Given the description of an element on the screen output the (x, y) to click on. 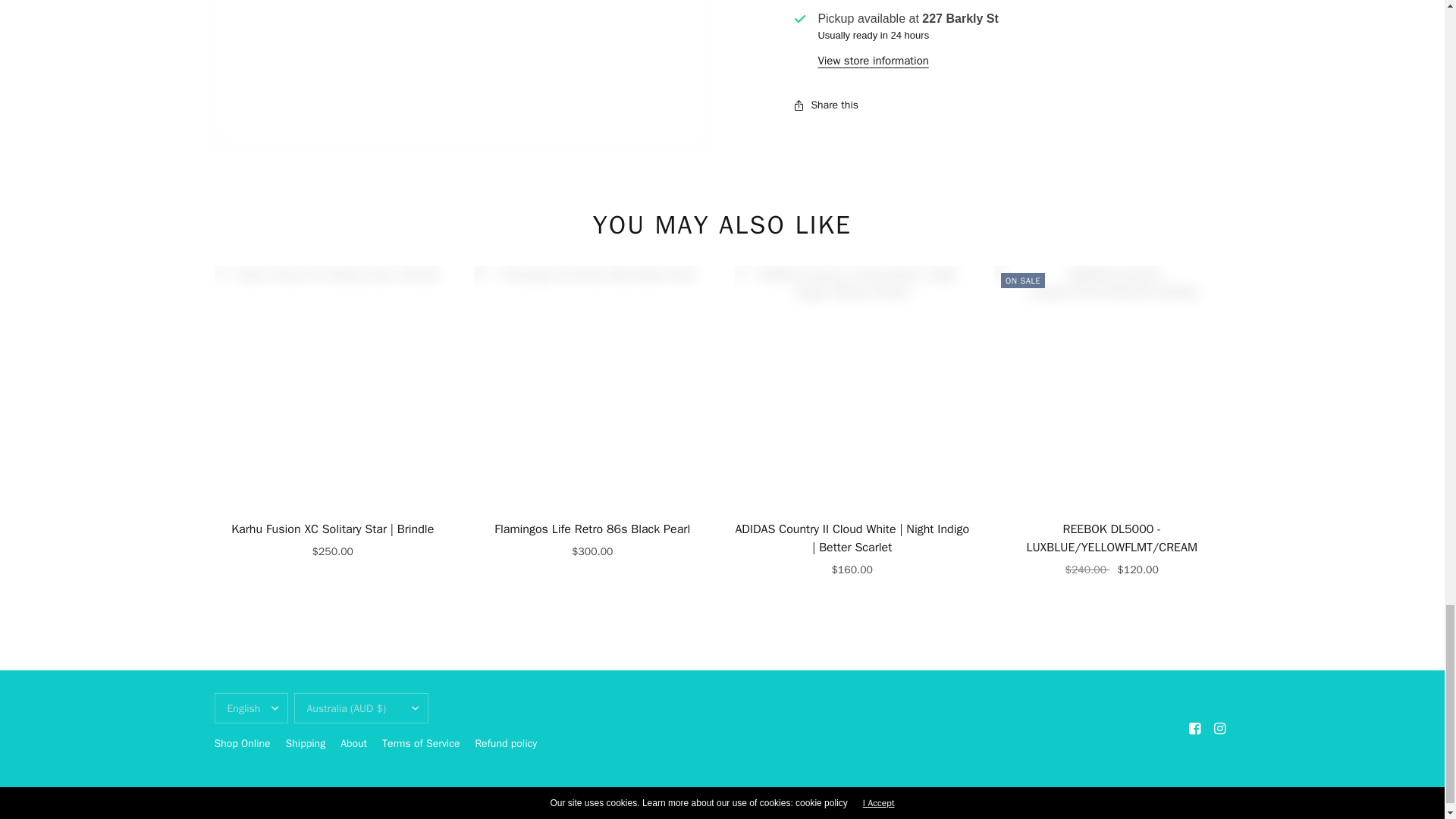
Visa (1218, 795)
Shop Pay (1154, 795)
Google Pay (1060, 795)
American Express (1028, 795)
Union Pay (1186, 795)
PayPal (1123, 795)
Mastercard (1091, 795)
